Given the description of an element on the screen output the (x, y) to click on. 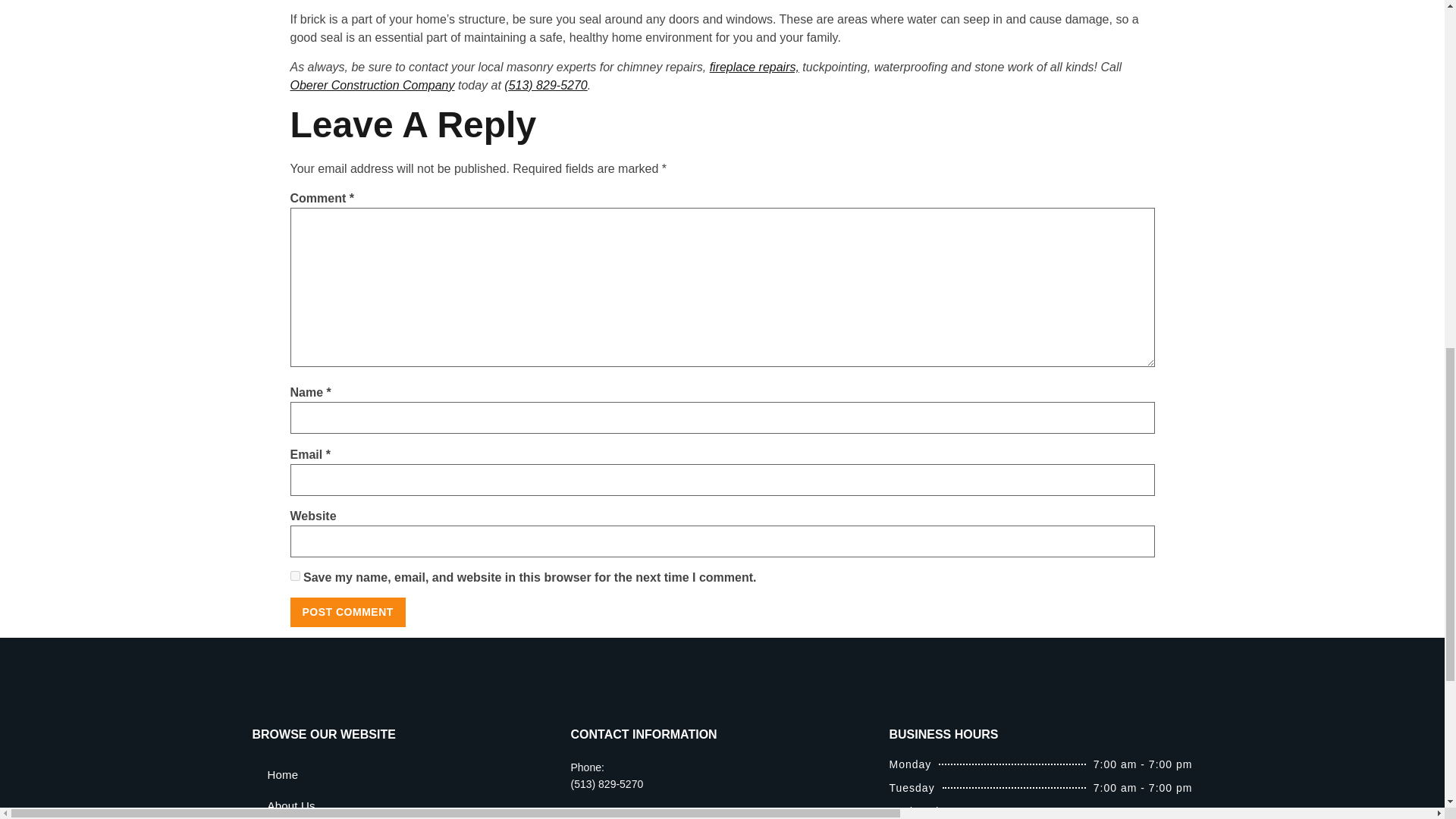
Post Comment (346, 611)
yes (294, 575)
